Given the description of an element on the screen output the (x, y) to click on. 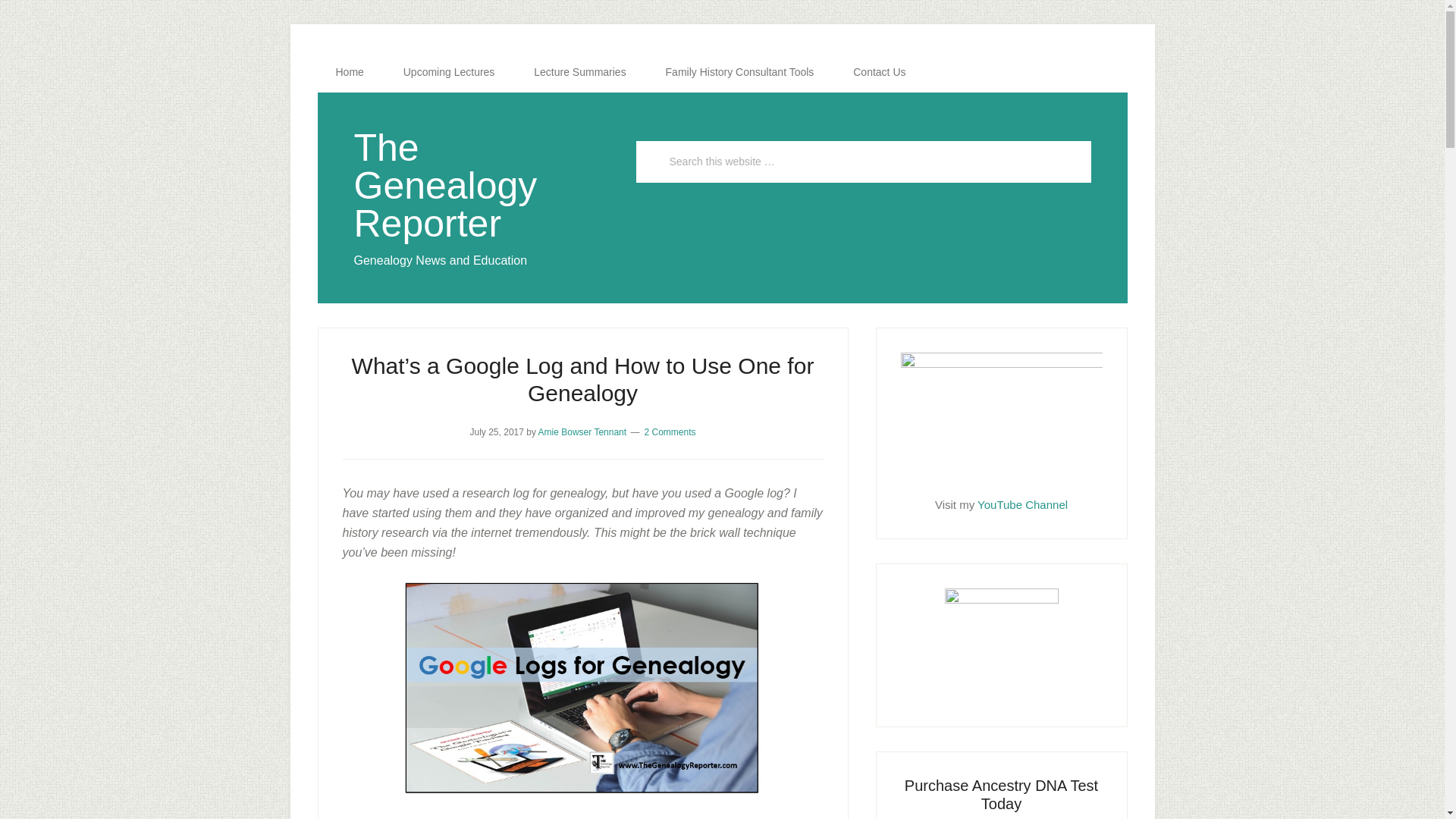
Contact Us (878, 71)
Lecture Summaries (579, 71)
Upcoming Lectures (449, 71)
2 Comments (669, 431)
The Genealogy Reporter (445, 185)
Amie Bowser Tennant (582, 431)
YouTube Channel (1021, 504)
Family History Consultant Tools (739, 71)
